Given the description of an element on the screen output the (x, y) to click on. 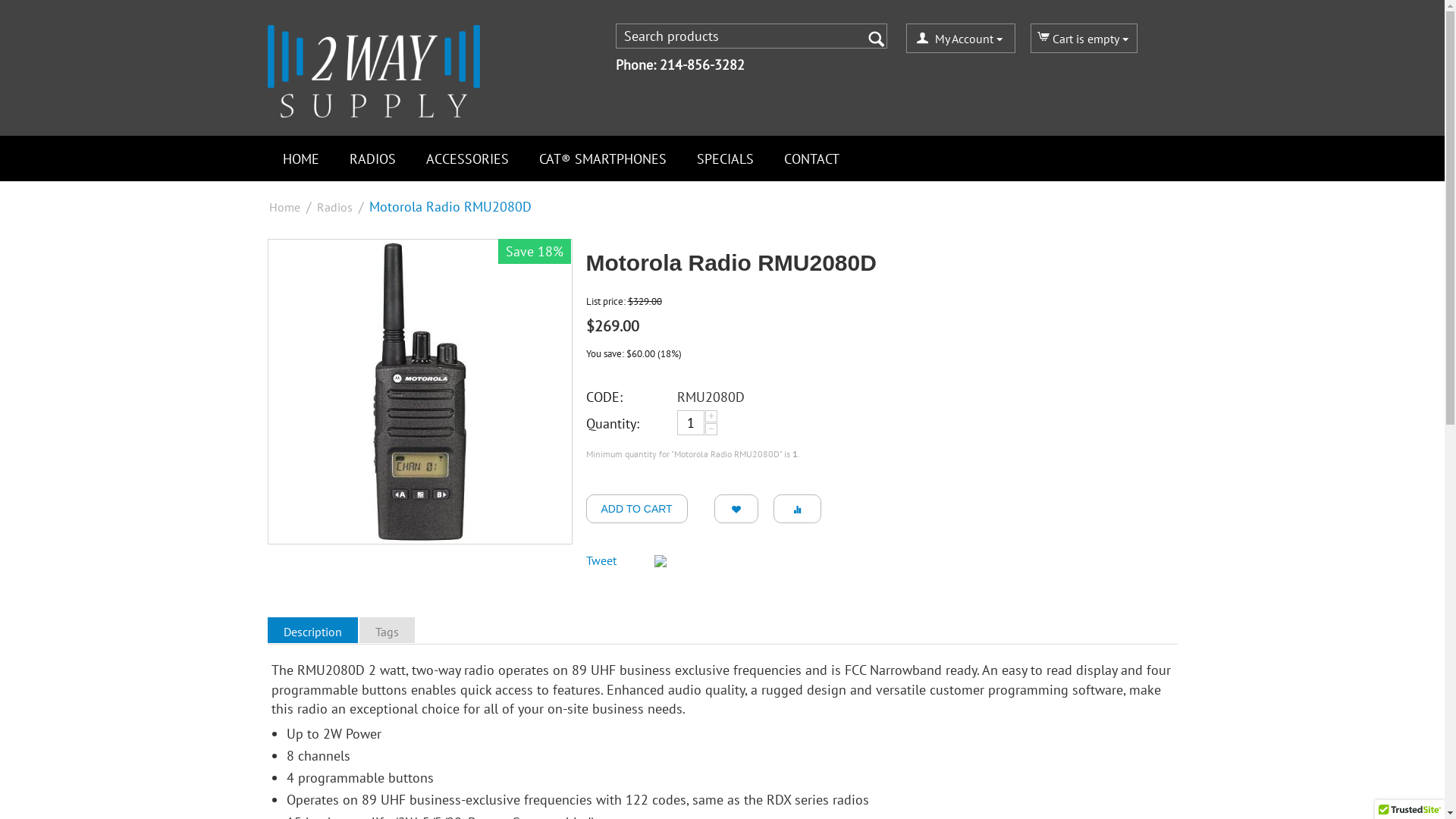
CONTACT Element type: text (811, 158)
ACCESSORIES Element type: text (467, 158)
Search Element type: hover (874, 37)
+ Element type: text (711, 416)
Add to comparison list Element type: hover (797, 508)
Home Element type: text (283, 206)
Add to wish list Element type: hover (736, 508)
HOME Element type: text (299, 158)
Tags Element type: text (387, 630)
RADIOS Element type: text (371, 158)
  My Account Element type: text (959, 38)
Description Element type: text (313, 630)
Tweet Element type: text (600, 559)
Radios Element type: text (334, 206)
Cart is empty Element type: text (1082, 38)
ADD TO CART Element type: text (636, 508)
SPECIALS Element type: text (724, 158)
Search products Element type: hover (750, 35)
